Given the description of an element on the screen output the (x, y) to click on. 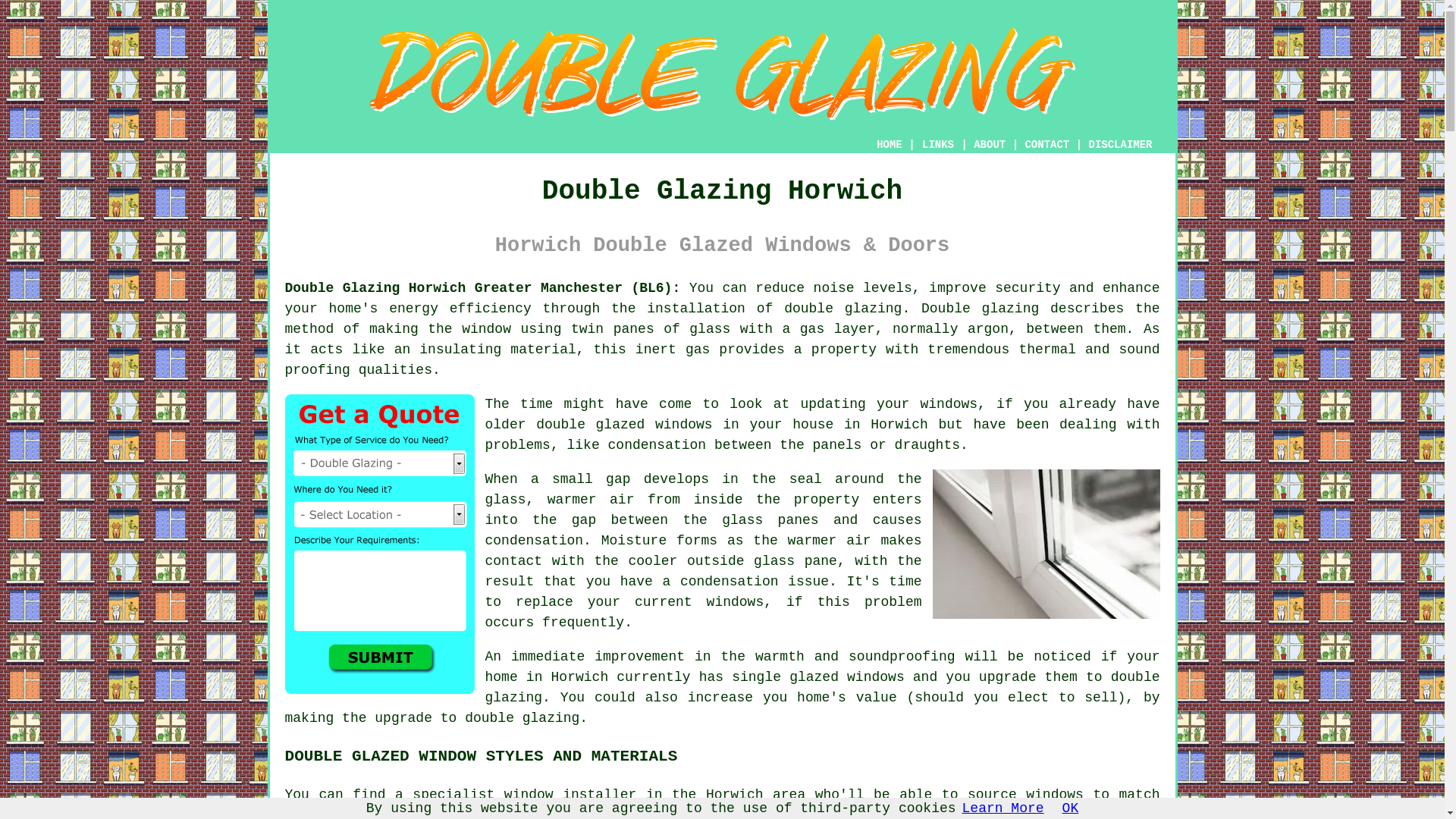
double glazing (842, 308)
LINKS (938, 144)
double glazed windows (623, 424)
HOME (889, 144)
Double Glazing Horwich (722, 73)
